Given the description of an element on the screen output the (x, y) to click on. 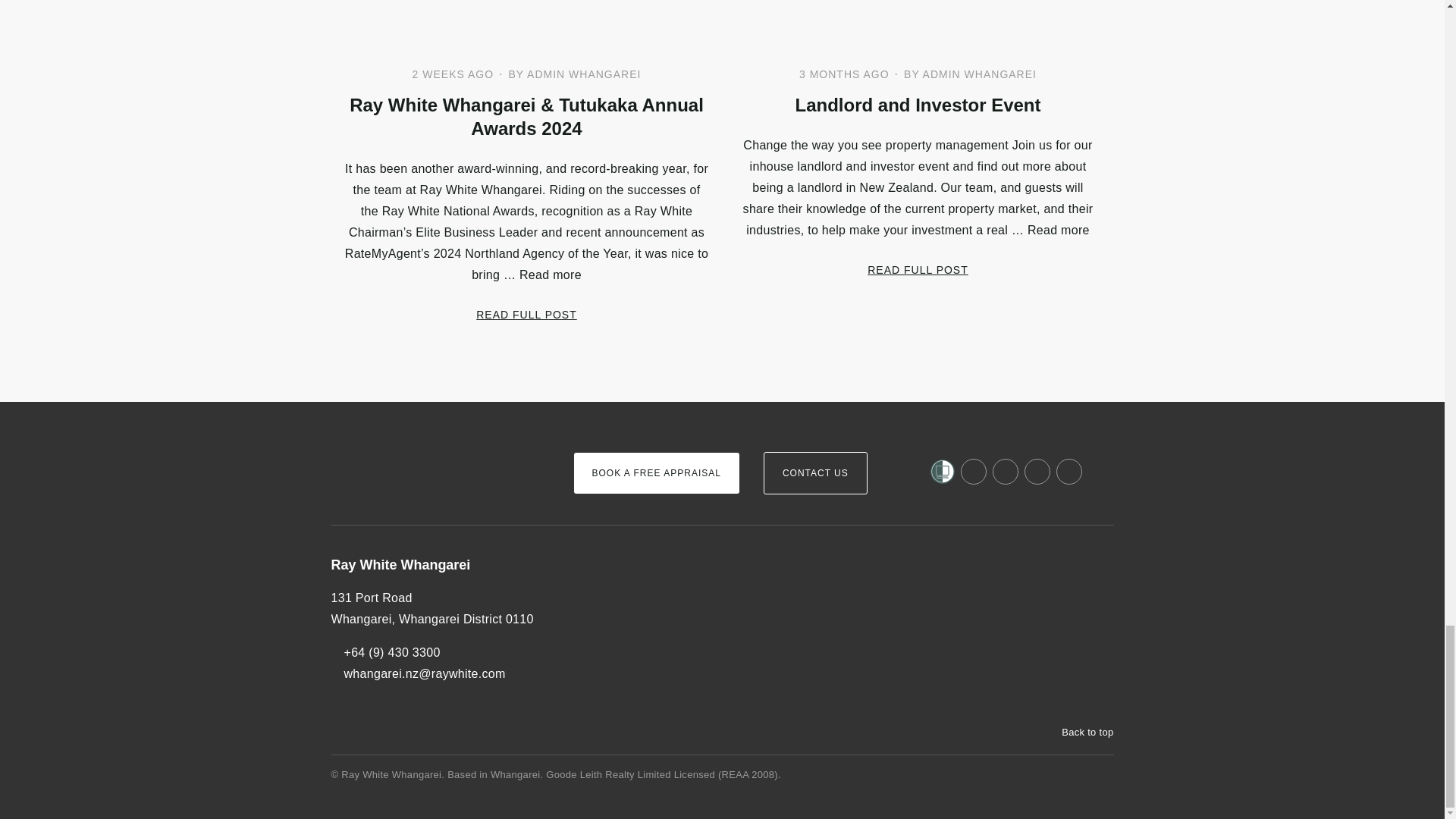
LinkedIn (1037, 471)
READ FULL POST (526, 314)
Youtube (1069, 471)
BOOK A FREE APPRAISAL (655, 472)
Ray White Whangarei (439, 565)
Facebook (973, 471)
Back to top (1079, 732)
Landlord and Investor Event (916, 105)
READ FULL POST (917, 269)
Ray White (376, 447)
Instagram (1004, 471)
CONTACT US (814, 473)
